Given the description of an element on the screen output the (x, y) to click on. 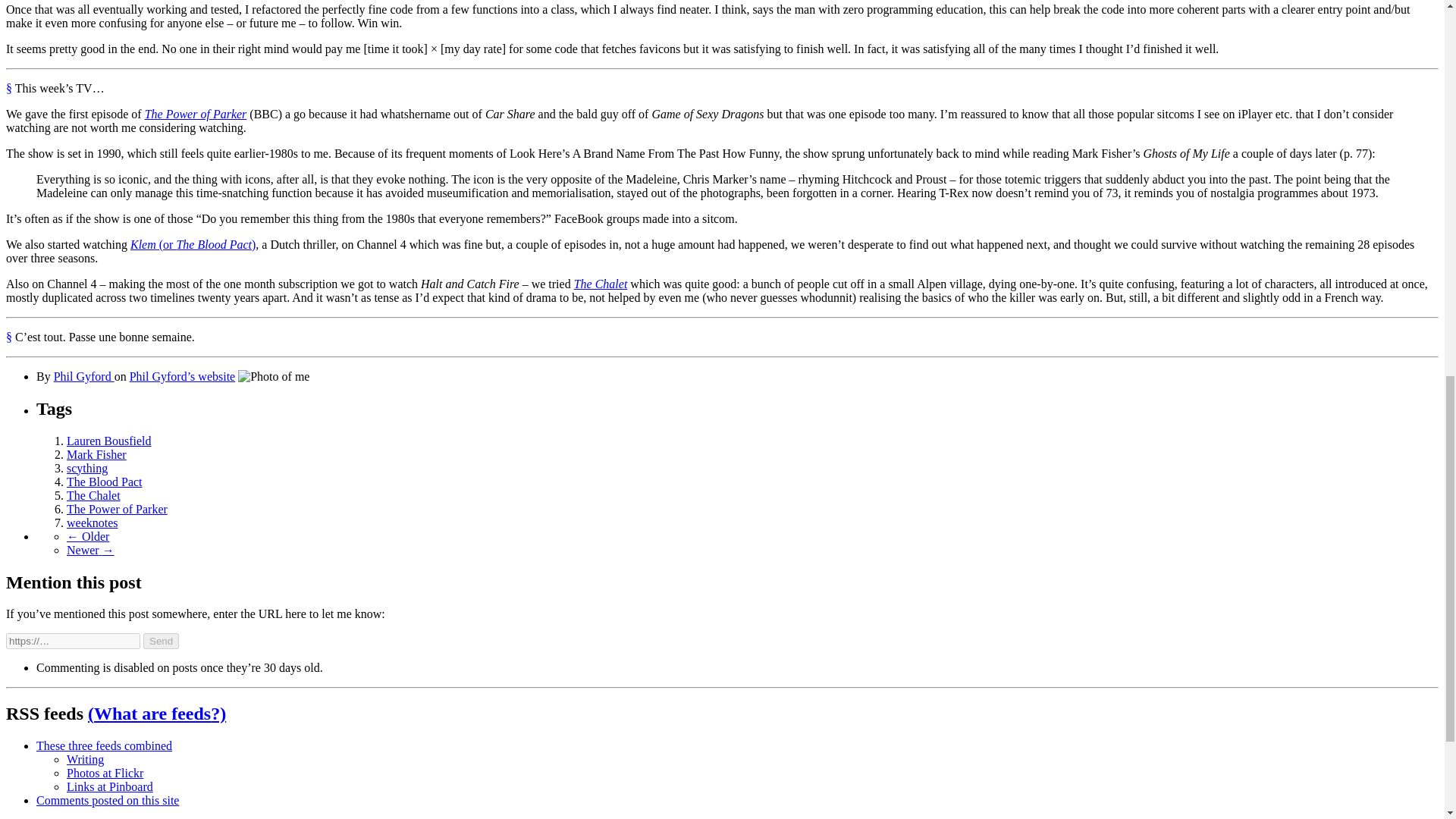
More tagged with Lauren Bousfield (108, 440)
Send (160, 641)
The Chalet (600, 283)
More tagged with weeknotes (91, 522)
The Blood Pact (104, 481)
More tagged with scything (86, 468)
More tagged with The Chalet (93, 495)
Phil Gyford (84, 376)
More tagged with The Blood Pact (104, 481)
The Power of Parker (195, 113)
